Given the description of an element on the screen output the (x, y) to click on. 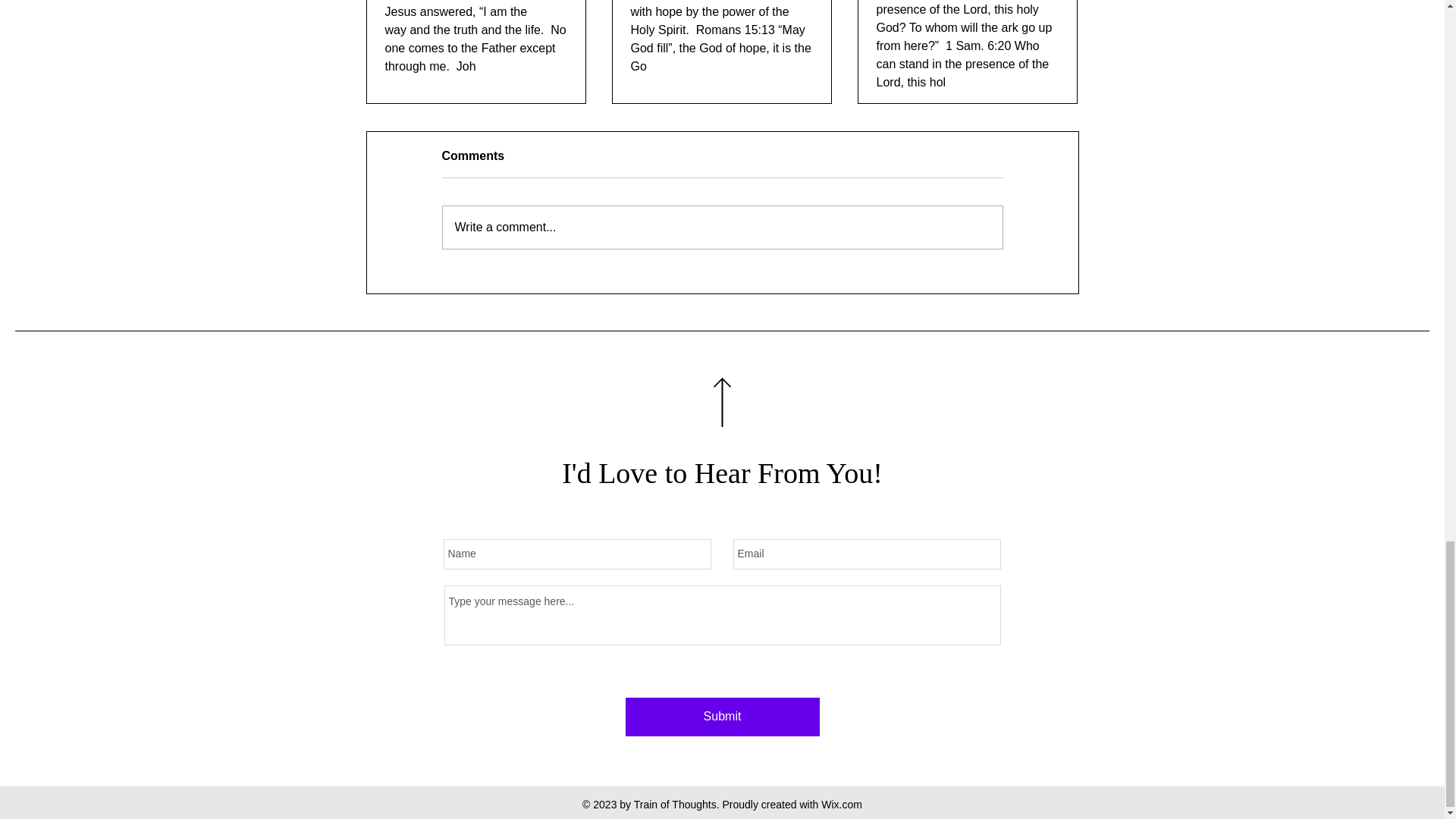
Submit (721, 716)
Write a comment... (722, 227)
Wix.com (841, 804)
